Given the description of an element on the screen output the (x, y) to click on. 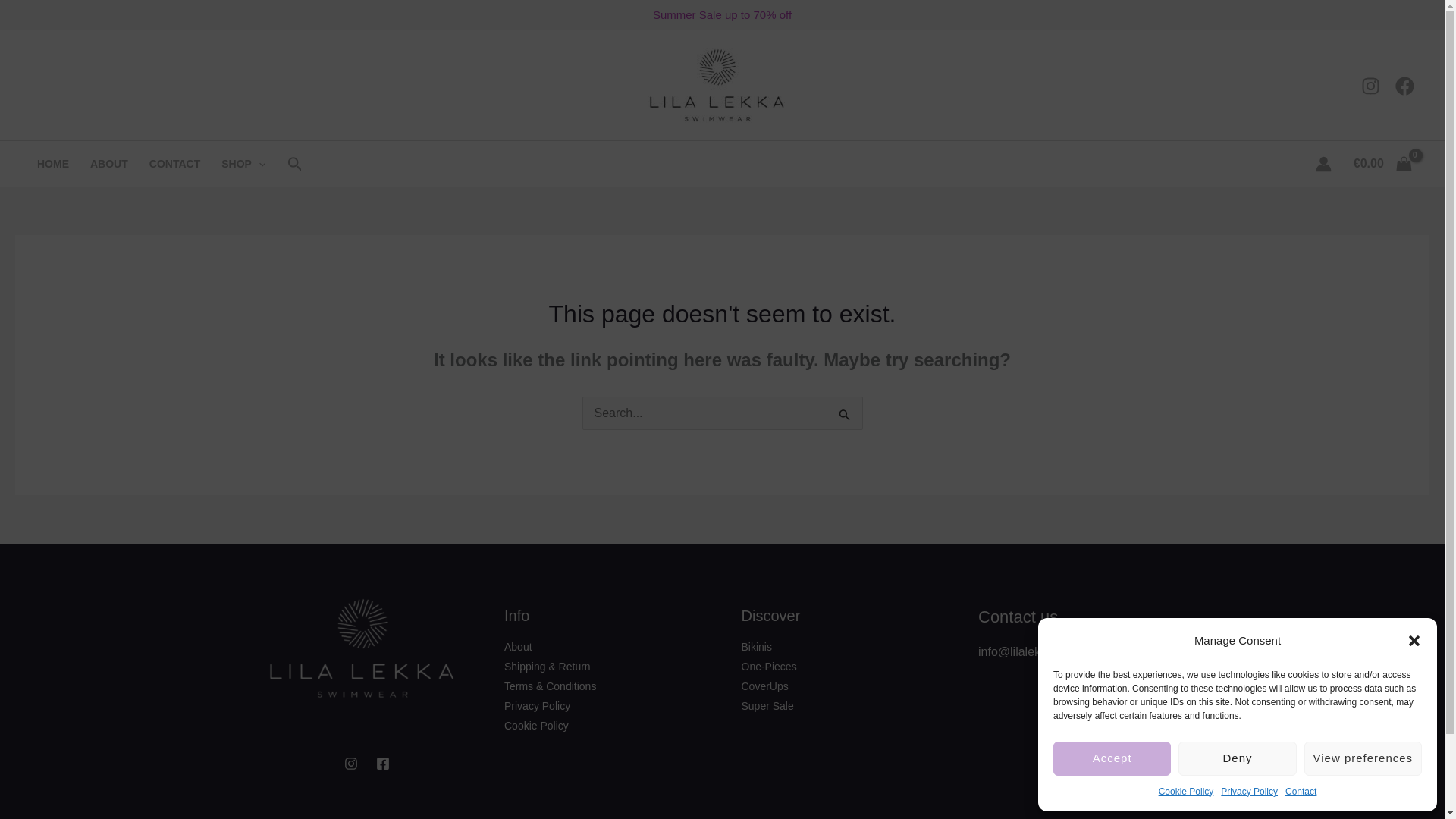
Privacy Policy (1249, 791)
Search (844, 415)
Contact (1300, 791)
ABOUT (109, 163)
Accept (1111, 758)
CONTACT (174, 163)
SHOP (243, 163)
HOME (53, 163)
Deny (1236, 758)
Cookie Policy (1186, 791)
View preferences (1363, 758)
Search (844, 415)
